Given the description of an element on the screen output the (x, y) to click on. 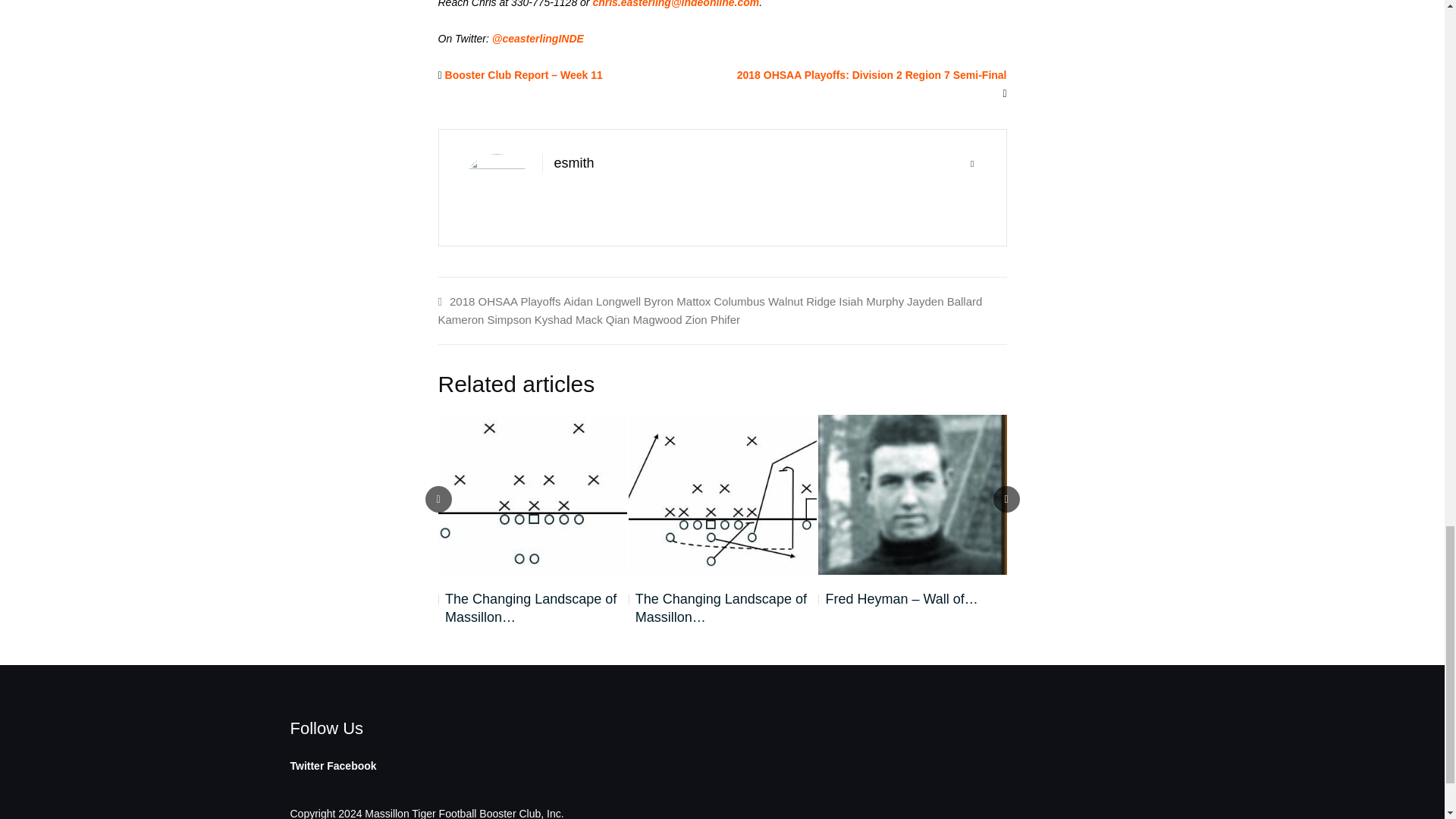
Kameron Simpson (484, 318)
2018 OHSAA Playoffs: Division 2 Region 7 Semi-Final (871, 74)
Isiah Murphy (871, 300)
Byron Mattox (676, 300)
Aidan Longwell (601, 300)
Zion Phifer (713, 318)
Kyshad Mack (568, 318)
Jayden Ballard (944, 300)
Columbus Walnut Ridge (774, 300)
Qian Magwood (643, 318)
2018 OHSAA Playoffs (504, 300)
